Given the description of an element on the screen output the (x, y) to click on. 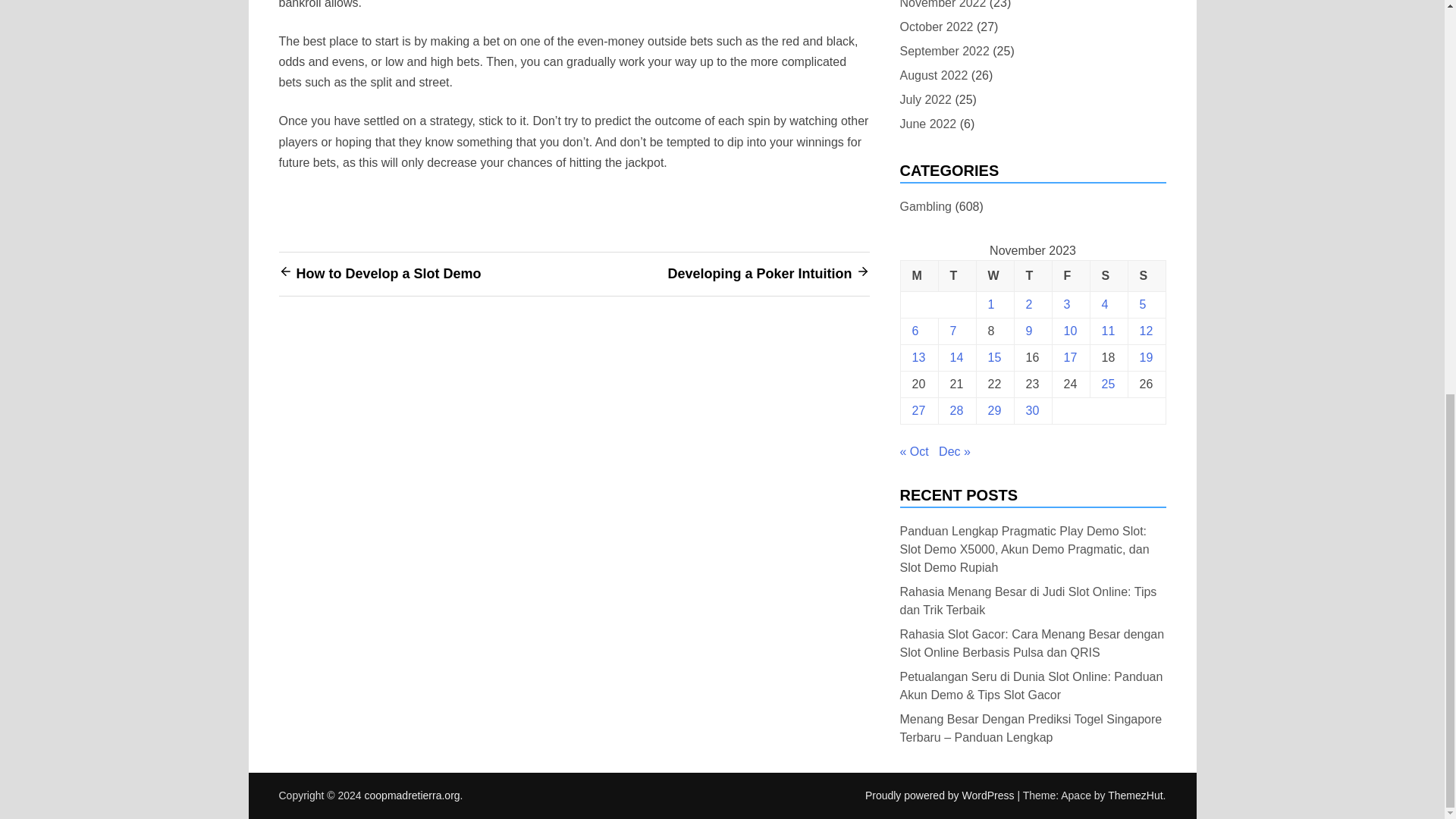
Thursday (1032, 276)
Saturday (1107, 276)
Developing a Poker Intuition (758, 273)
Wednesday (994, 276)
coopmadretierra.org (412, 795)
July 2022 (925, 99)
Monday (918, 276)
Gambling (924, 206)
October 2022 (935, 26)
How to Develop a Slot Demo (387, 273)
August 2022 (933, 75)
June 2022 (927, 123)
November 2022 (942, 6)
Sunday (1146, 276)
September 2022 (943, 50)
